Given the description of an element on the screen output the (x, y) to click on. 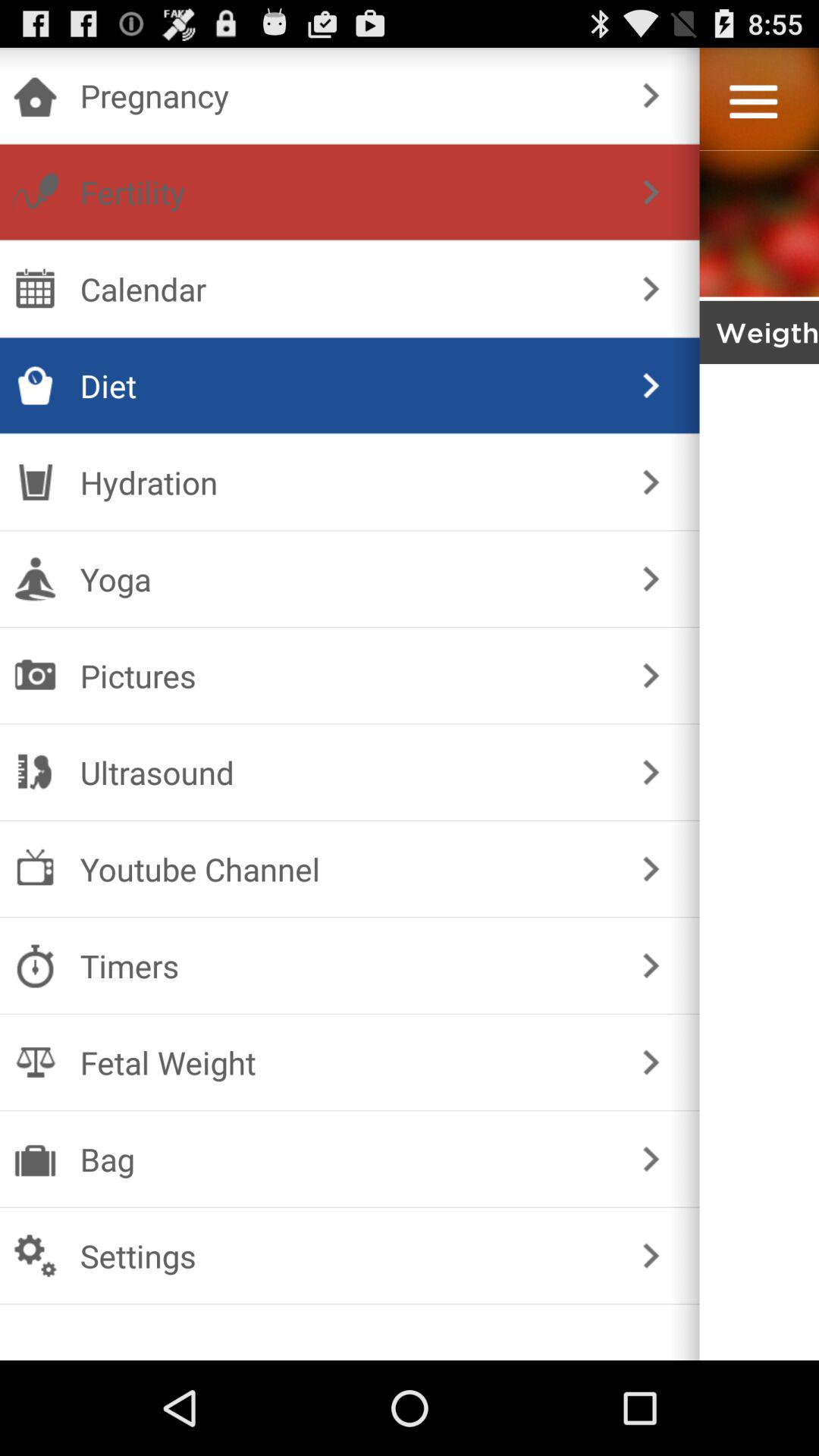
go somewhere unknown (759, 808)
